Given the description of an element on the screen output the (x, y) to click on. 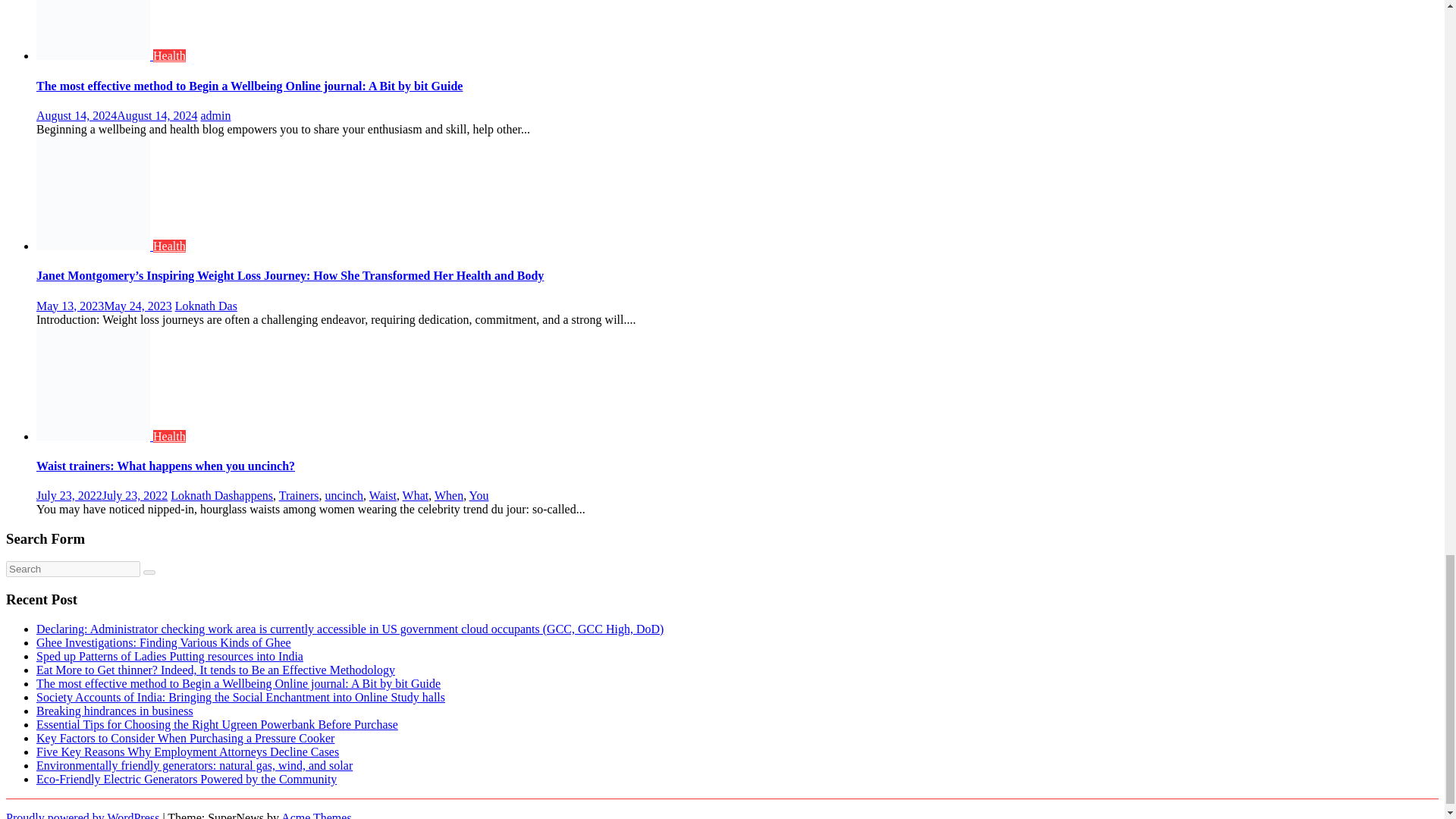
August 14, 2024August 14, 2024 (116, 115)
Health (169, 55)
